Given the description of an element on the screen output the (x, y) to click on. 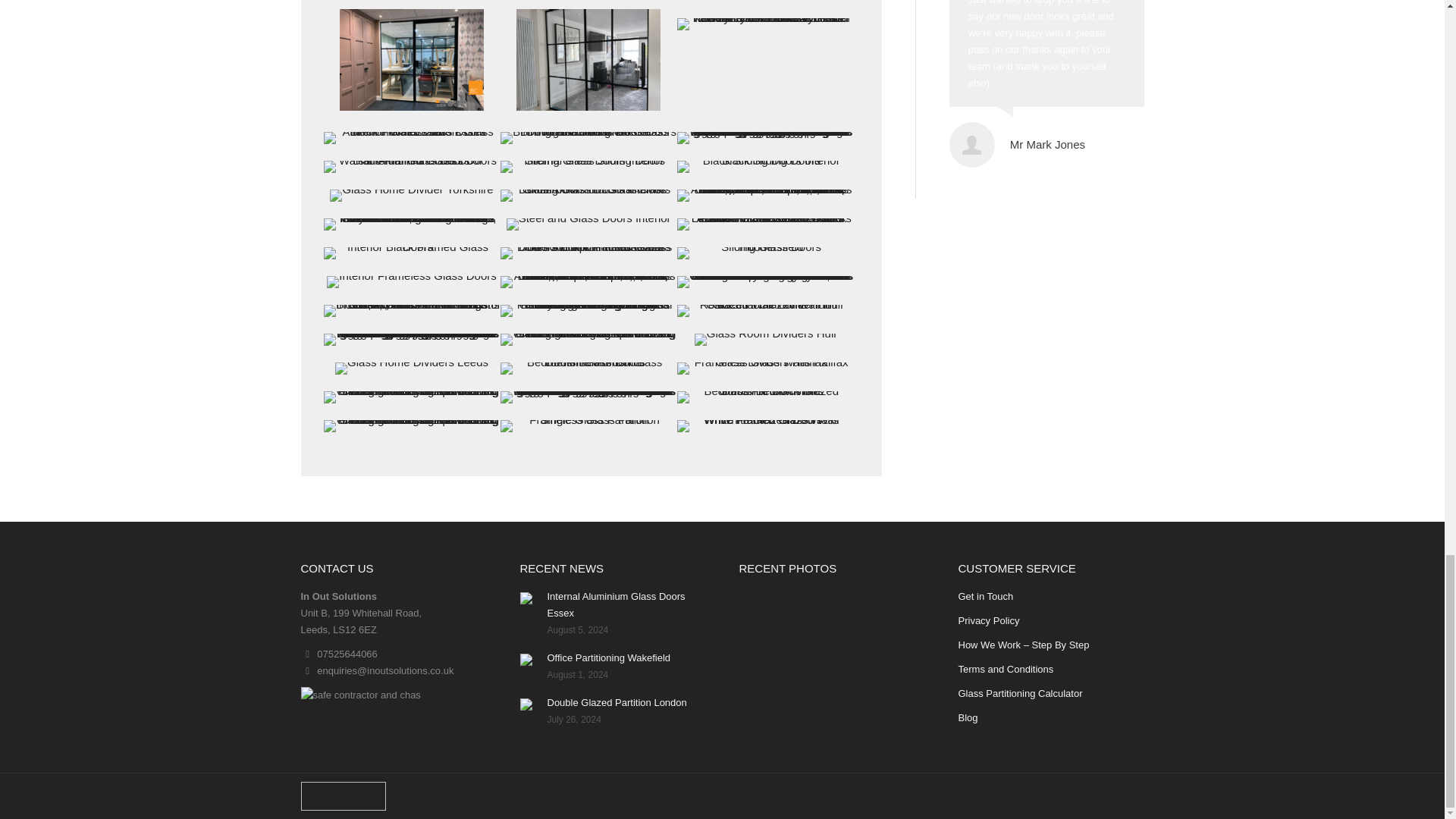
Interior Aluminium Glass Doors (588, 59)
Internal Glass Doors Birmingham (588, 137)
Interior Glass Doors Essex (411, 137)
Industrial Glass Partitions (765, 24)
Interior Glass Partitions Walsall (411, 166)
Glass Partitioning Hampshire (765, 137)
Black Framed Glass Doors (588, 166)
Interior Glass Black Doors (765, 166)
Internal Glass Doors (411, 59)
